Given the description of an element on the screen output the (x, y) to click on. 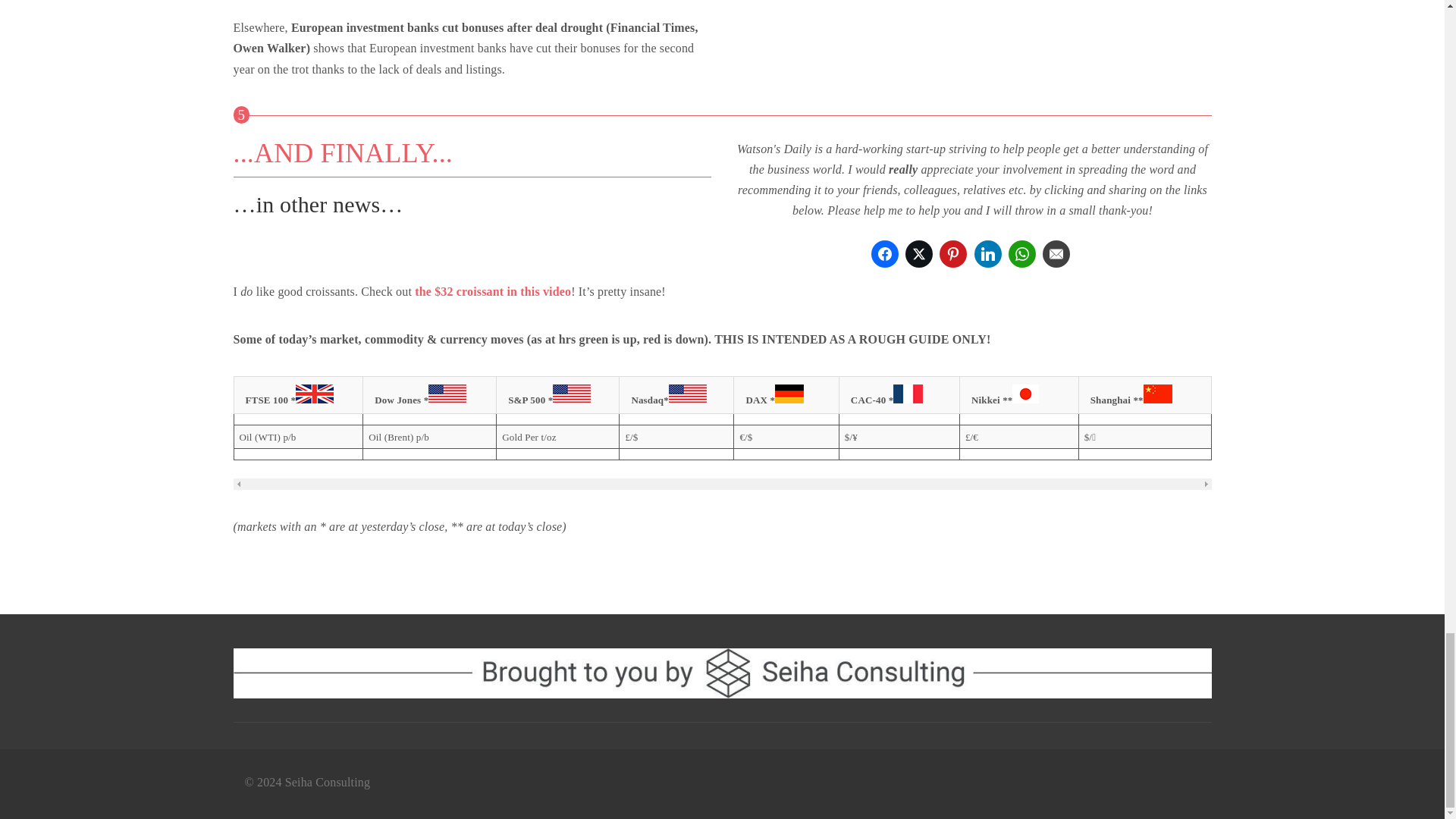
Share on Pinterest (952, 253)
Share on Email (1056, 253)
Share on WhatsApp (1022, 253)
Share on Facebook (884, 253)
Share on Twitter (919, 253)
Share on LinkedIn (987, 253)
